Given the description of an element on the screen output the (x, y) to click on. 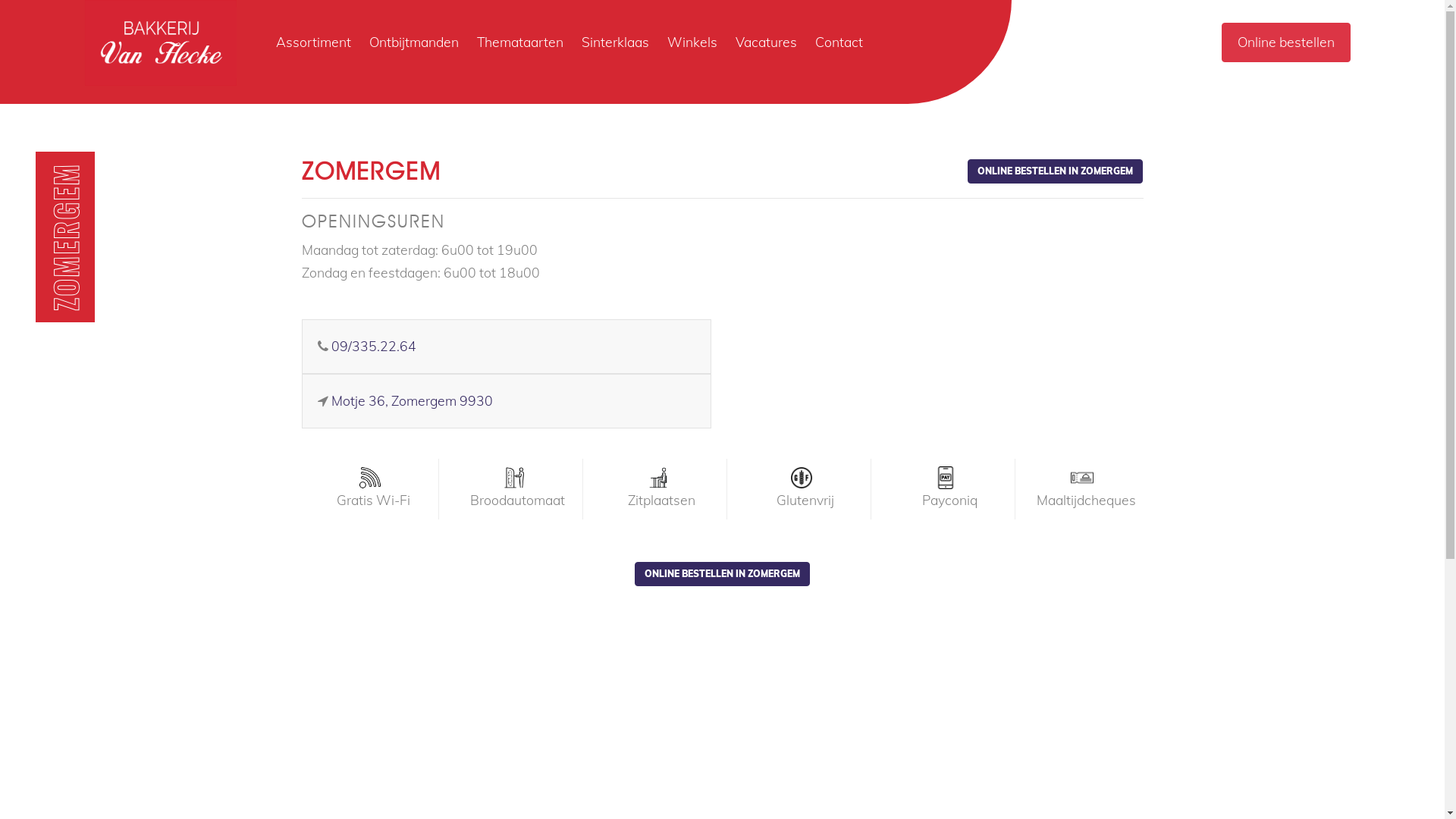
Themataarten Element type: text (519, 42)
glutenvrij Element type: hover (801, 477)
Ontbijtmanden Element type: text (413, 42)
Online bestellen Element type: text (1285, 41)
ONLINE BESTELLEN IN ZOMERGEM Element type: text (1054, 171)
zitplaatsen Element type: hover (657, 477)
ONLINE BESTELLEN IN ZOMERGEM Element type: text (721, 573)
Winkels Element type: text (692, 42)
Vacatures Element type: text (766, 42)
maaltijdcheques Element type: hover (1081, 477)
broodautomaat Element type: hover (513, 477)
09/335.22.64 Element type: text (372, 345)
Contact Element type: text (839, 42)
wifi Element type: hover (369, 477)
Assortiment Element type: text (313, 42)
Sinterklaas Element type: text (615, 42)
pay Element type: hover (945, 477)
Motje 36, Zomergem 9930 Element type: text (411, 400)
